Given the description of an element on the screen output the (x, y) to click on. 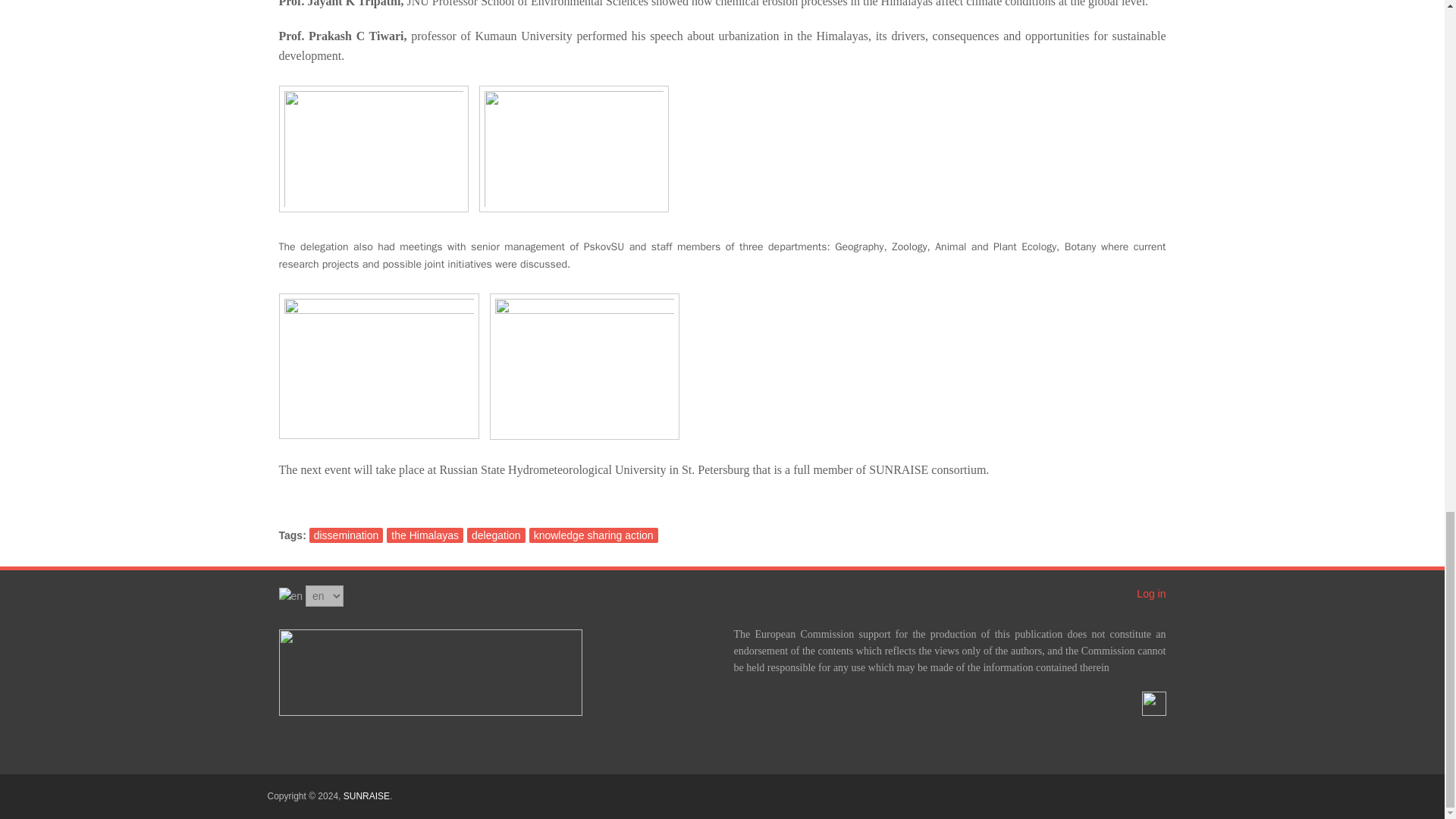
dissemination (346, 534)
en (290, 596)
delegation (496, 534)
SUNRAISE (366, 796)
the Himalayas (425, 534)
Log in (1151, 593)
knowledge sharing action (593, 534)
